Given the description of an element on the screen output the (x, y) to click on. 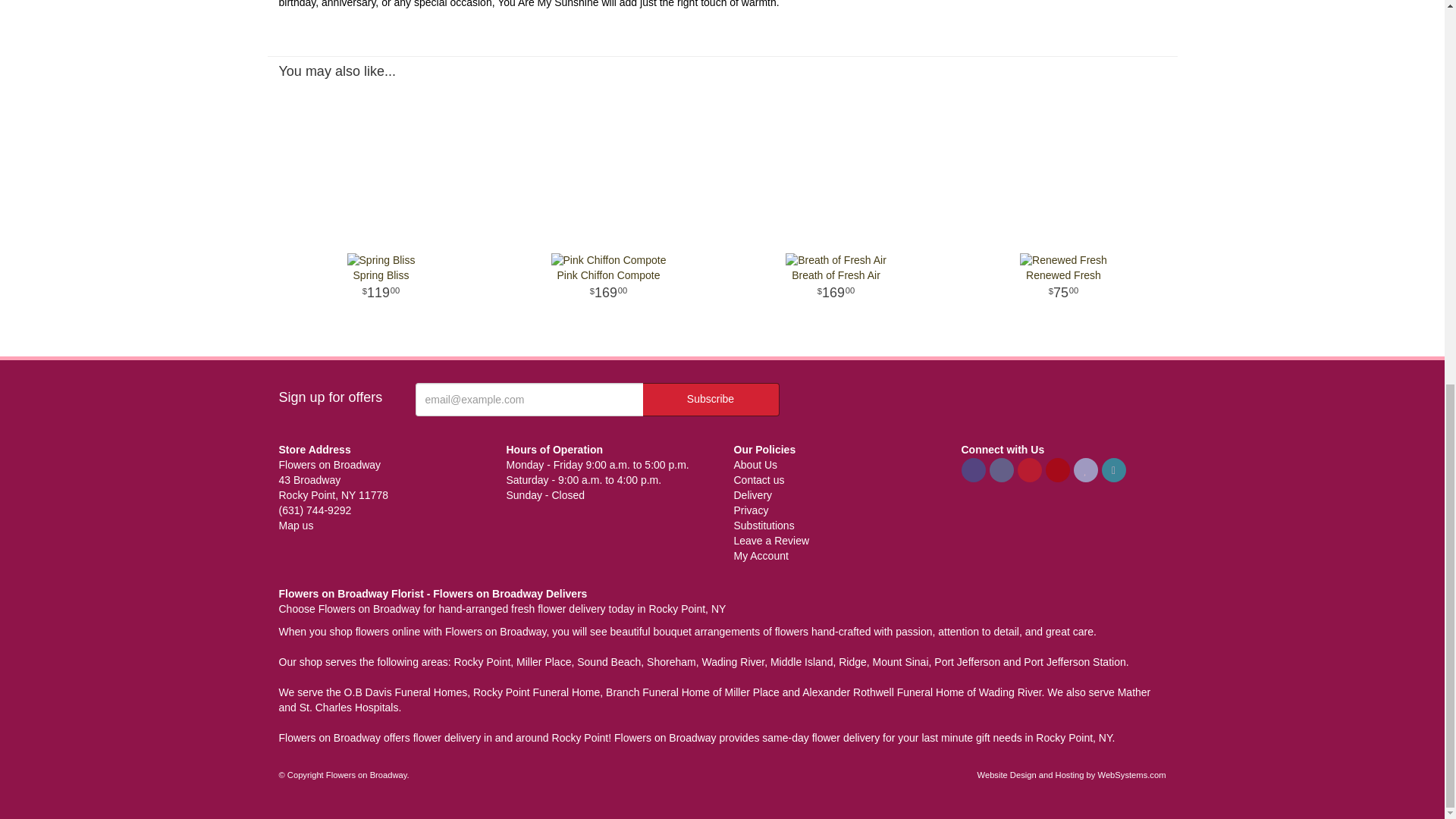
Subscribe (381, 286)
